Given the description of an element on the screen output the (x, y) to click on. 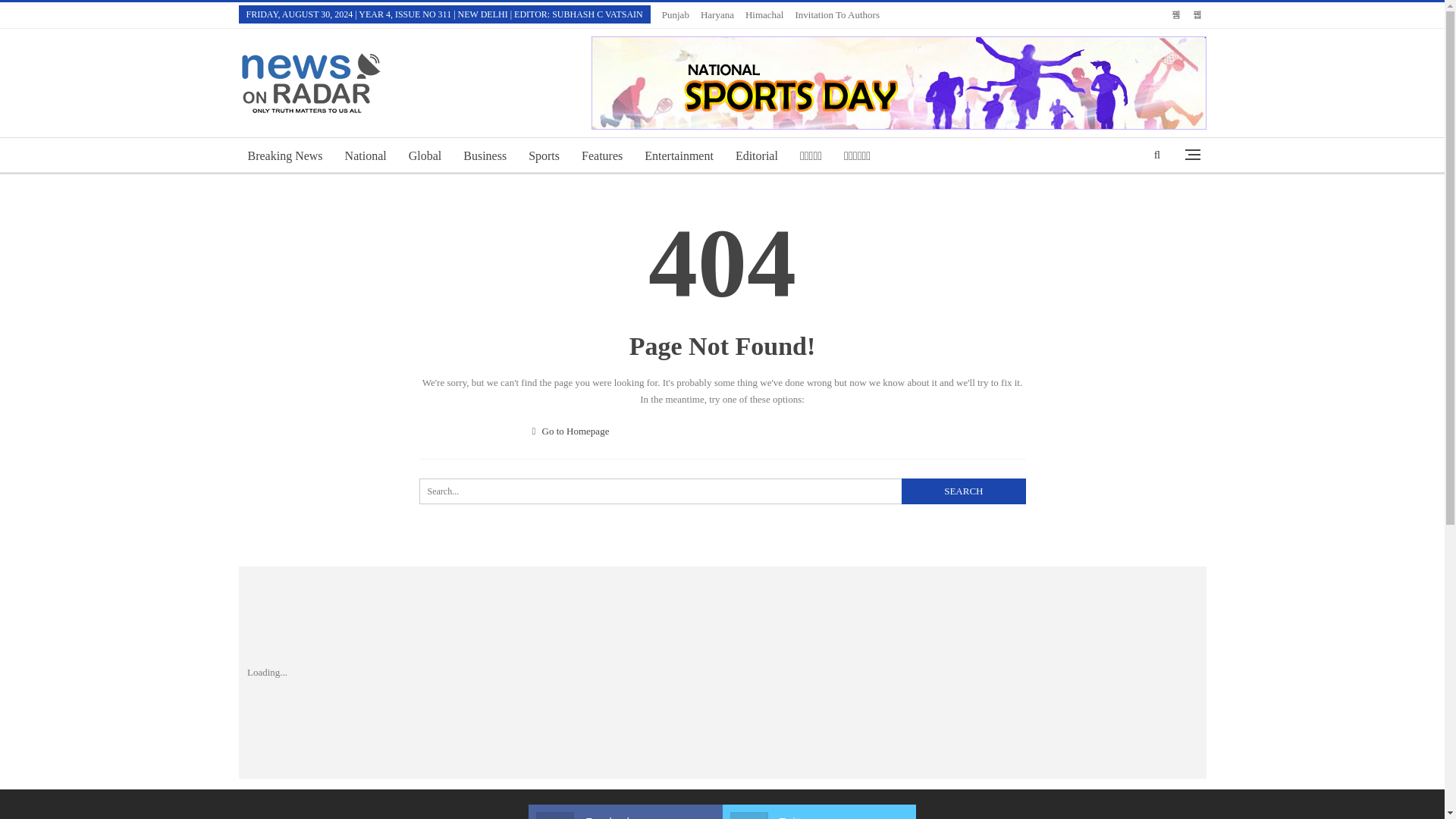
Invitation To Authors (836, 14)
Sports (544, 156)
Search for: (818, 816)
Himachal (722, 491)
Search (764, 14)
Haryana (963, 491)
Search (716, 14)
Business (963, 491)
